Given the description of an element on the screen output the (x, y) to click on. 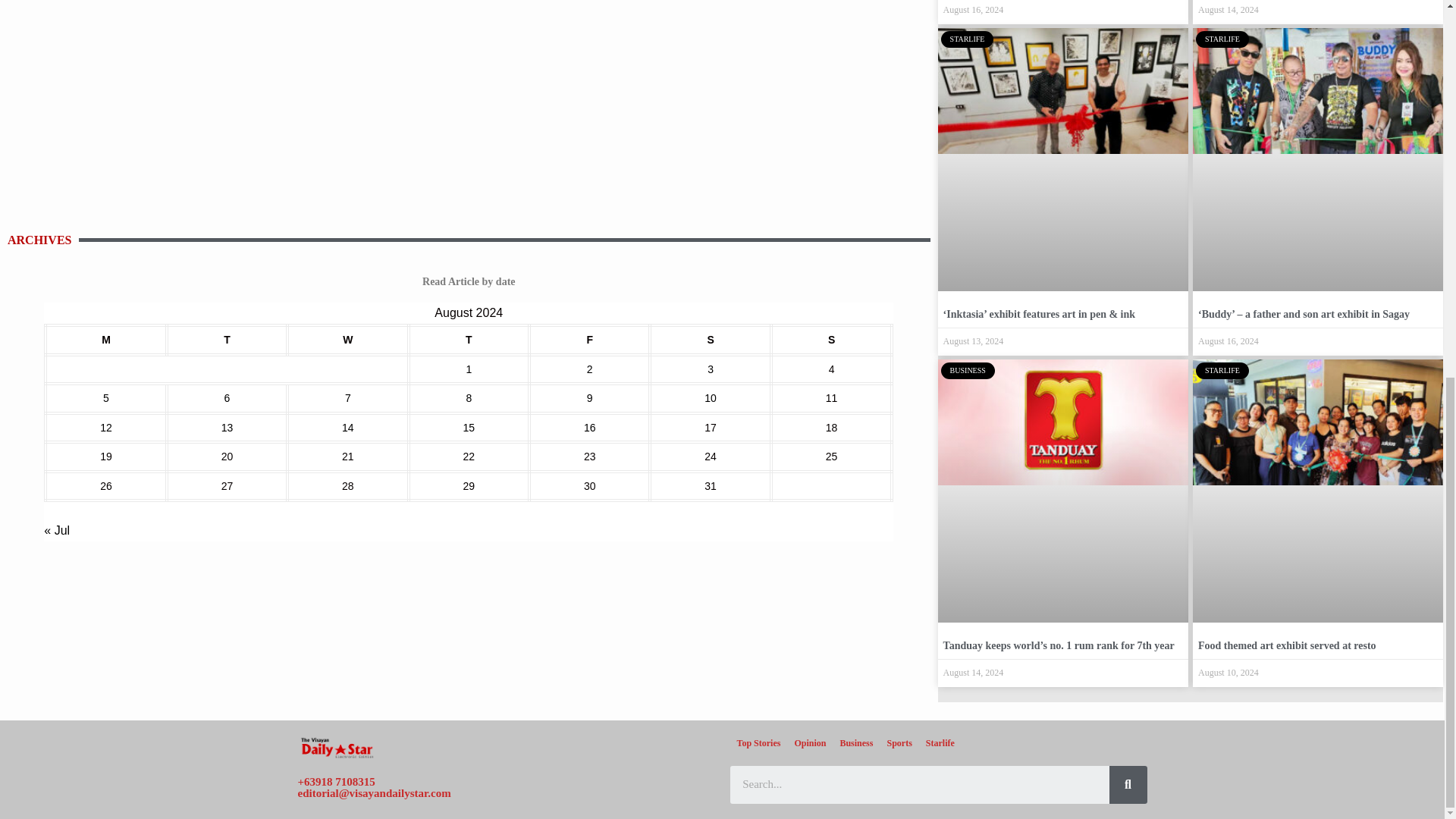
Monday (105, 339)
15 (468, 427)
Saturday (709, 339)
Search (1127, 784)
13 (226, 427)
12 (106, 427)
14 (347, 427)
Friday (589, 339)
Wednesday (346, 339)
Tuesday (226, 339)
